Given the description of an element on the screen output the (x, y) to click on. 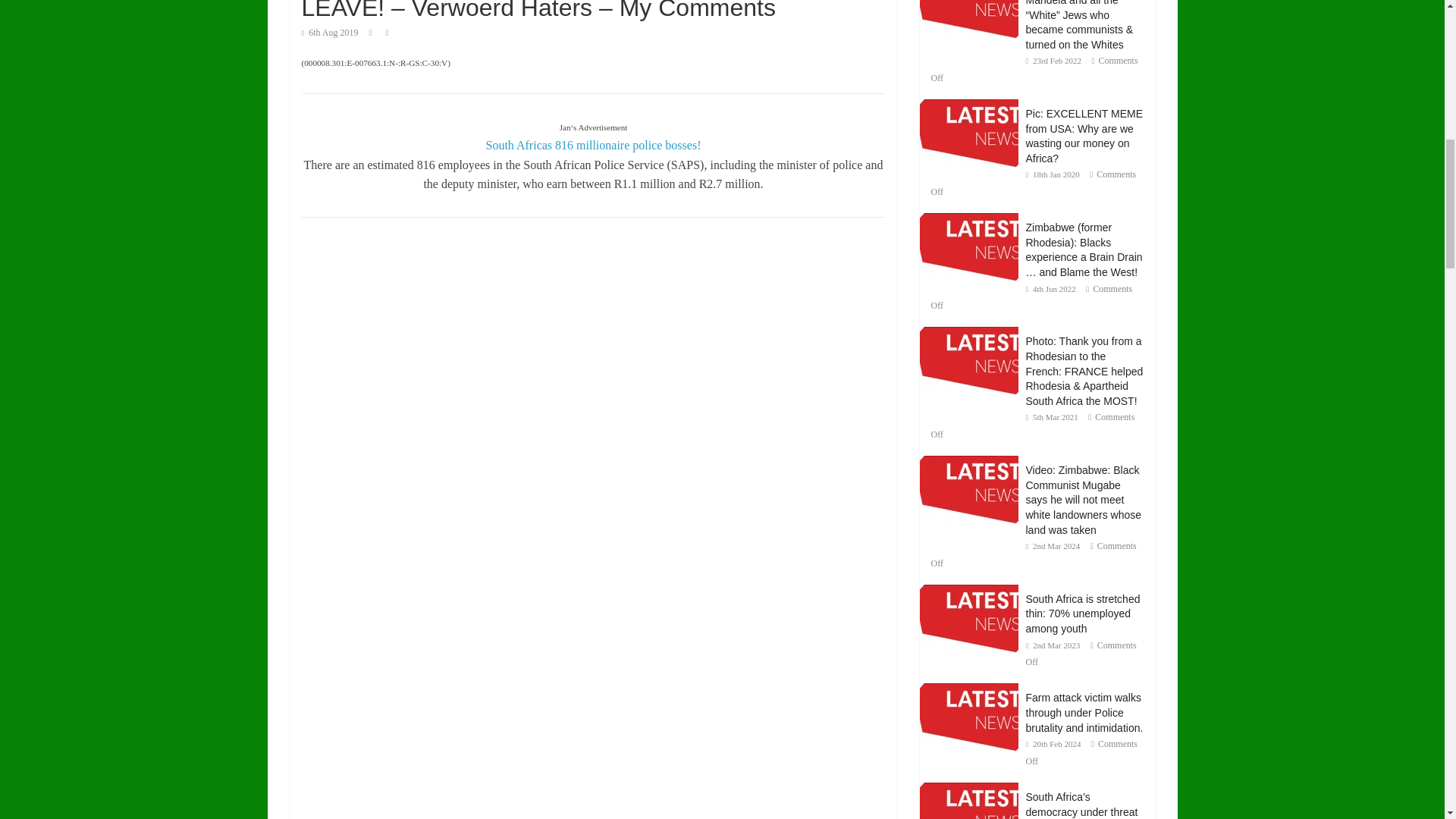
6th Aug 2019 (329, 32)
2:16 am (329, 32)
South Africas 816 millionaire police bosses! (593, 144)
